Given the description of an element on the screen output the (x, y) to click on. 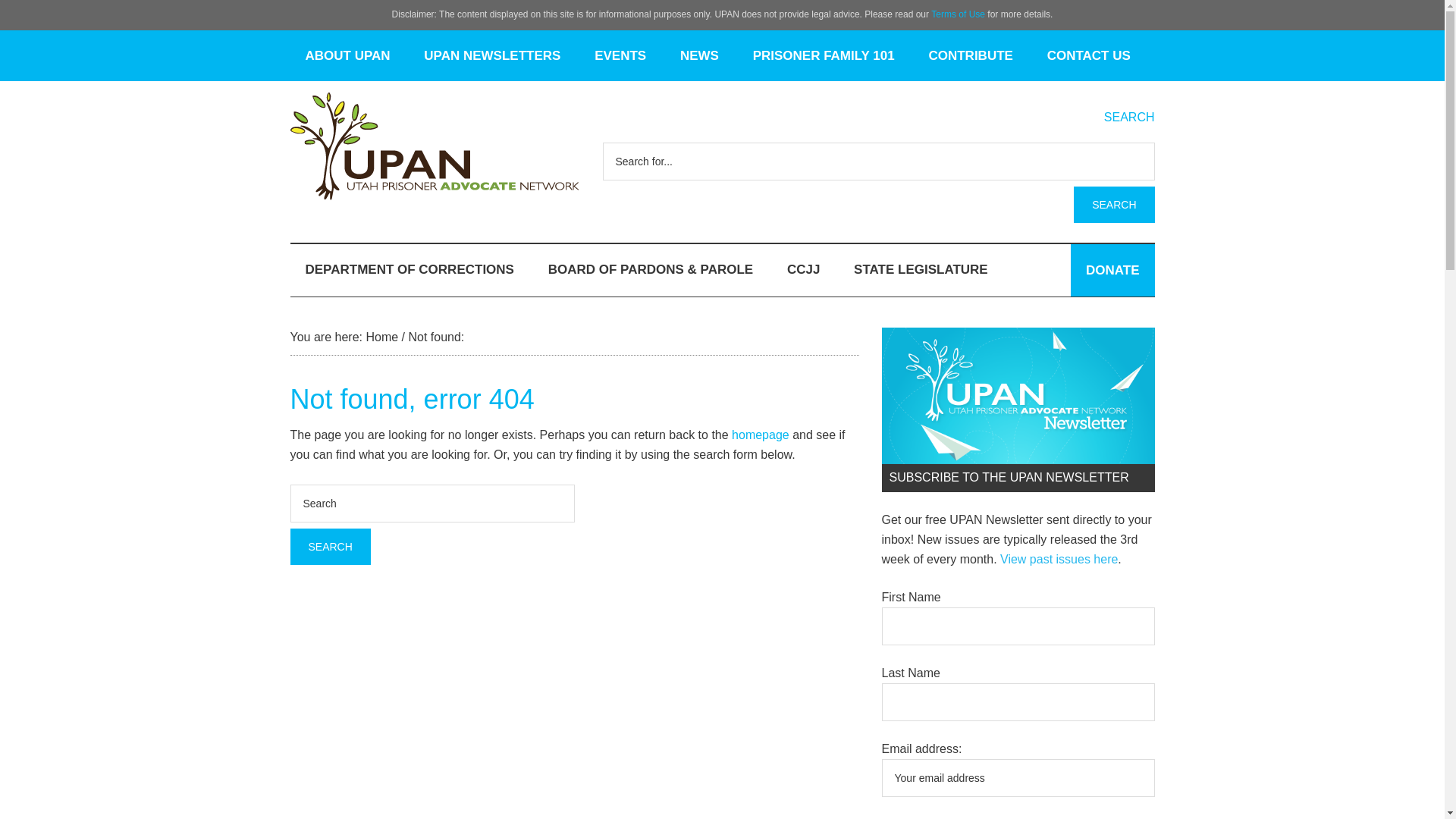
Search (329, 546)
Search (1114, 204)
EVENTS (620, 55)
PRISONER FAMILY 101 (824, 55)
UPAN NEWSLETTERS (492, 55)
ABOUT UPAN (346, 55)
CONTRIBUTE (969, 55)
Search (1114, 204)
Search for... (878, 161)
NEWS (699, 55)
CONTACT US (1088, 55)
Donate (1112, 270)
DEPARTMENT OF CORRECTIONS (408, 269)
Search (329, 546)
Search (1114, 204)
